Given the description of an element on the screen output the (x, y) to click on. 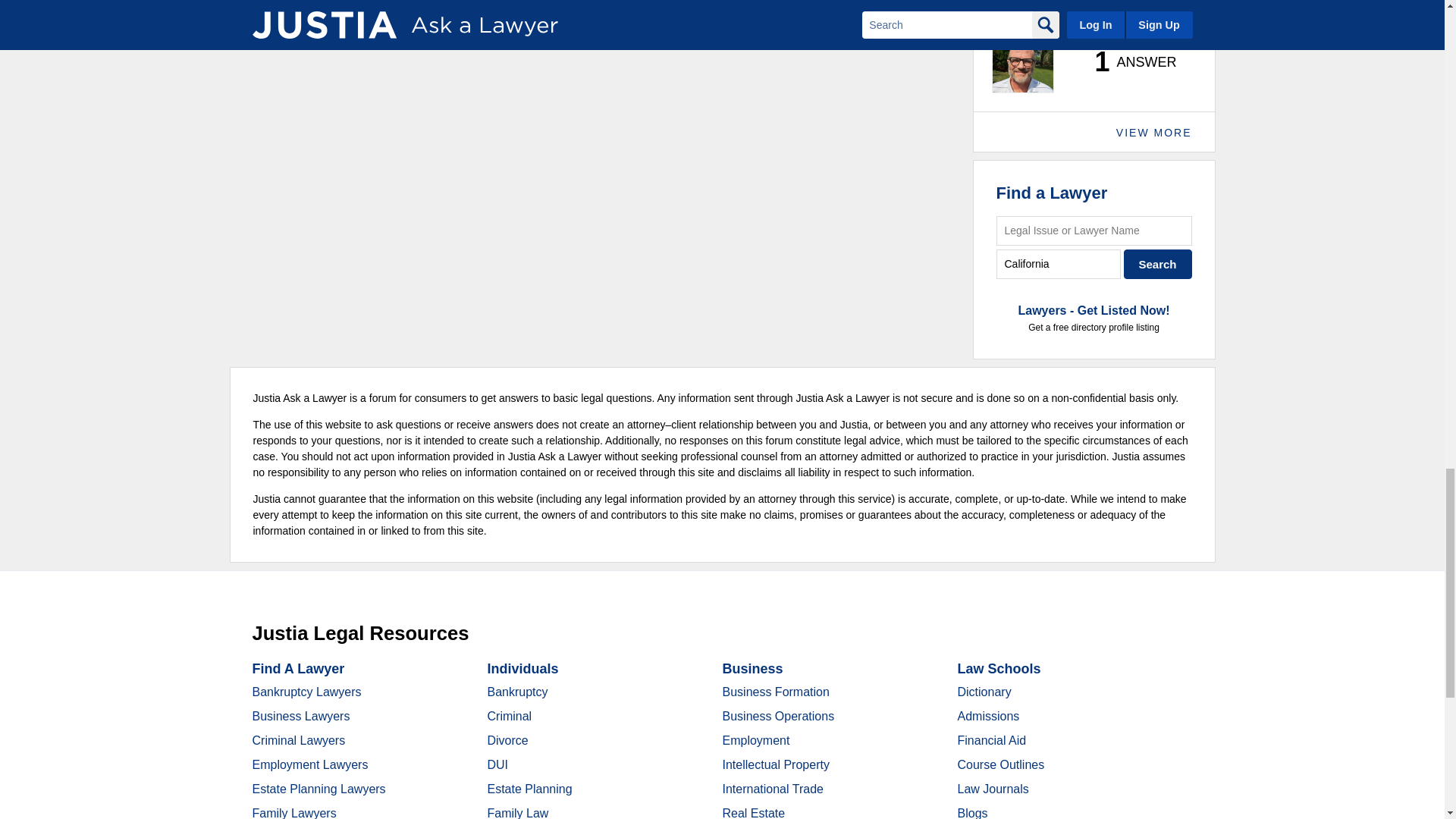
Search (1158, 264)
Ask a Lawyer - Leaderboard - Lawyer Stats (1127, 62)
City, State (1058, 264)
Ask a Lawyer - Leaderboard - Lawyer Name (1034, 14)
California (1058, 264)
Search (1158, 264)
Ask a Lawyer - Leaderboard - Lawyer Photo (1021, 61)
Legal Issue or Lawyer Name (1093, 230)
